Given the description of an element on the screen output the (x, y) to click on. 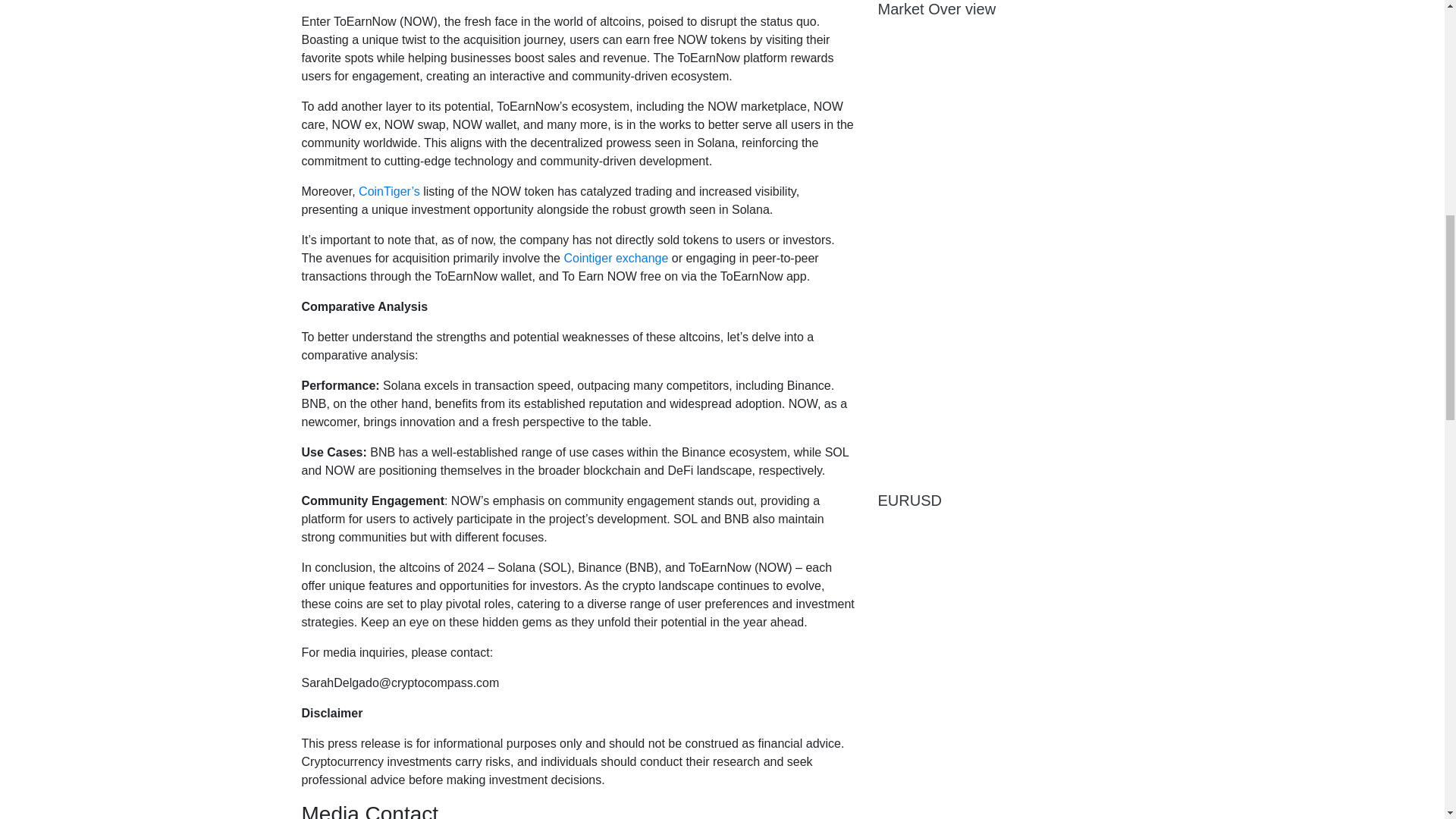
Cointiger exchange (615, 257)
mini symbol-overview TradingView widget (1009, 43)
